Given the description of an element on the screen output the (x, y) to click on. 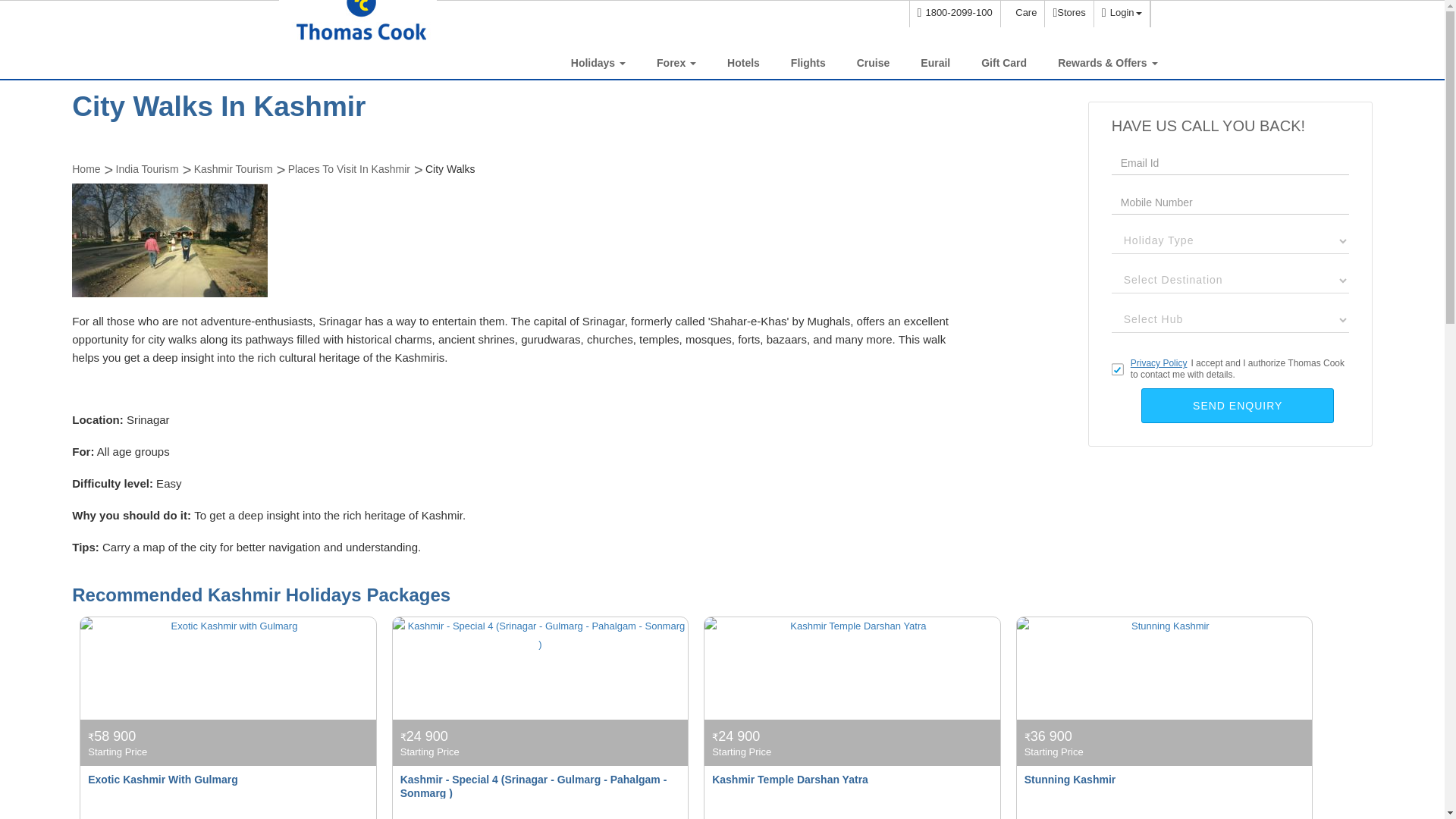
Login (1121, 13)
1800-2099-100 (954, 13)
Stores (1068, 13)
Care (1022, 13)
